Given the description of an element on the screen output the (x, y) to click on. 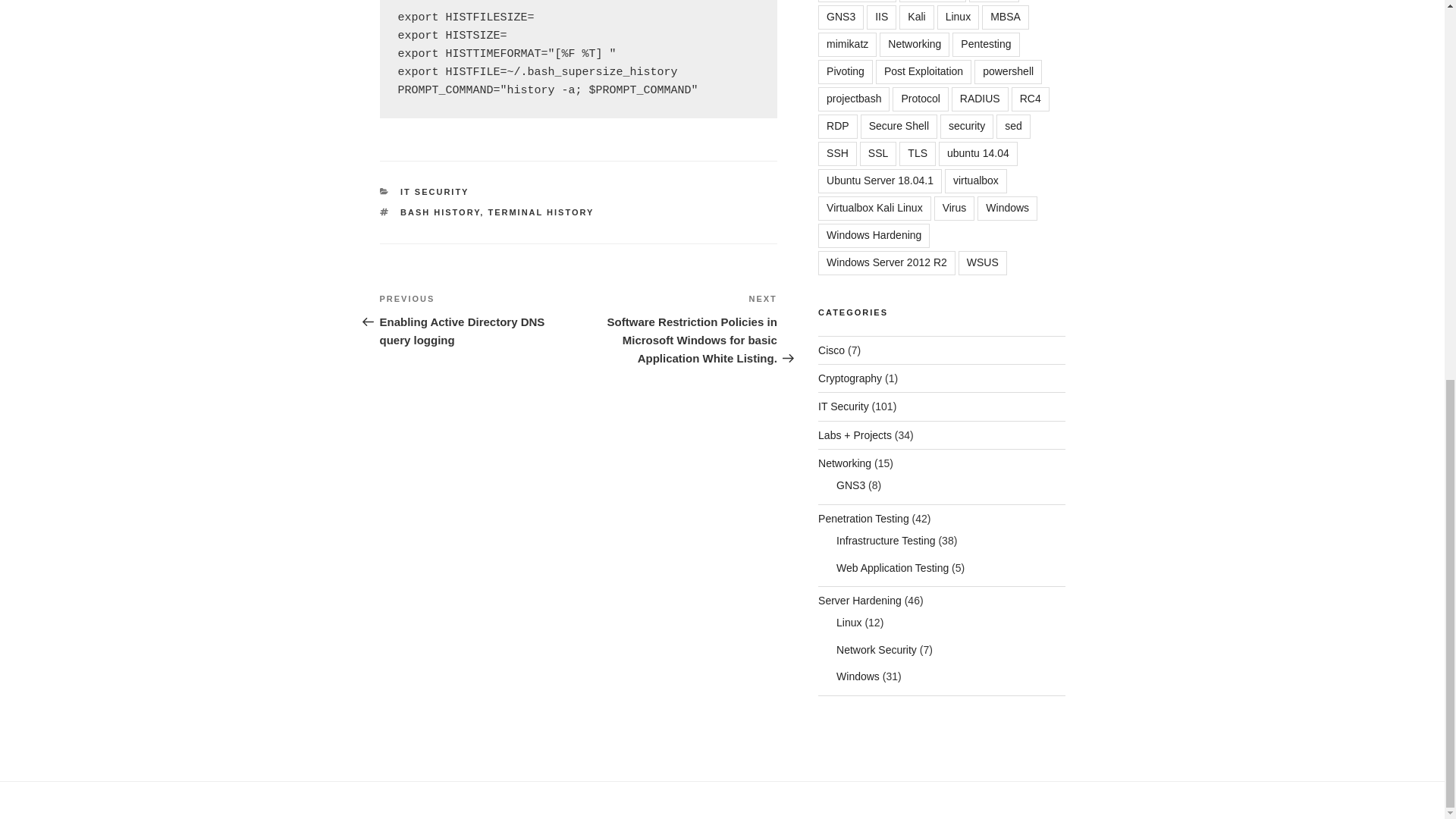
Kali (916, 16)
BASH HISTORY (440, 212)
IIS (881, 16)
Encryption (932, 1)
Cisco Router (857, 1)
firewall (994, 1)
GNS3 (840, 16)
TERMINAL HISTORY (540, 212)
IT SECURITY (434, 191)
